Given the description of an element on the screen output the (x, y) to click on. 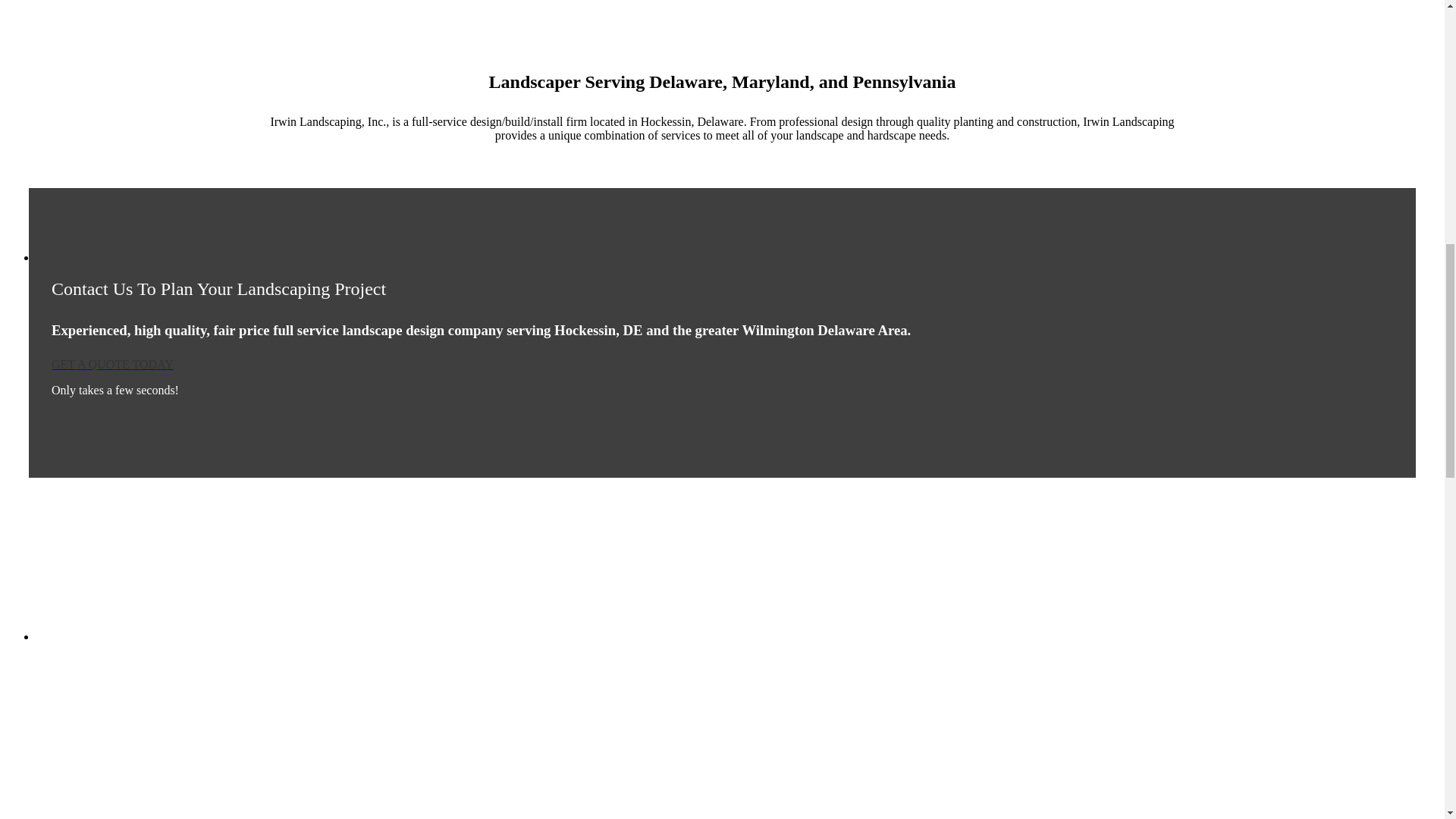
GET A QUOTE TODAY (111, 364)
GET A QUOTE TODAY (111, 364)
